Given the description of an element on the screen output the (x, y) to click on. 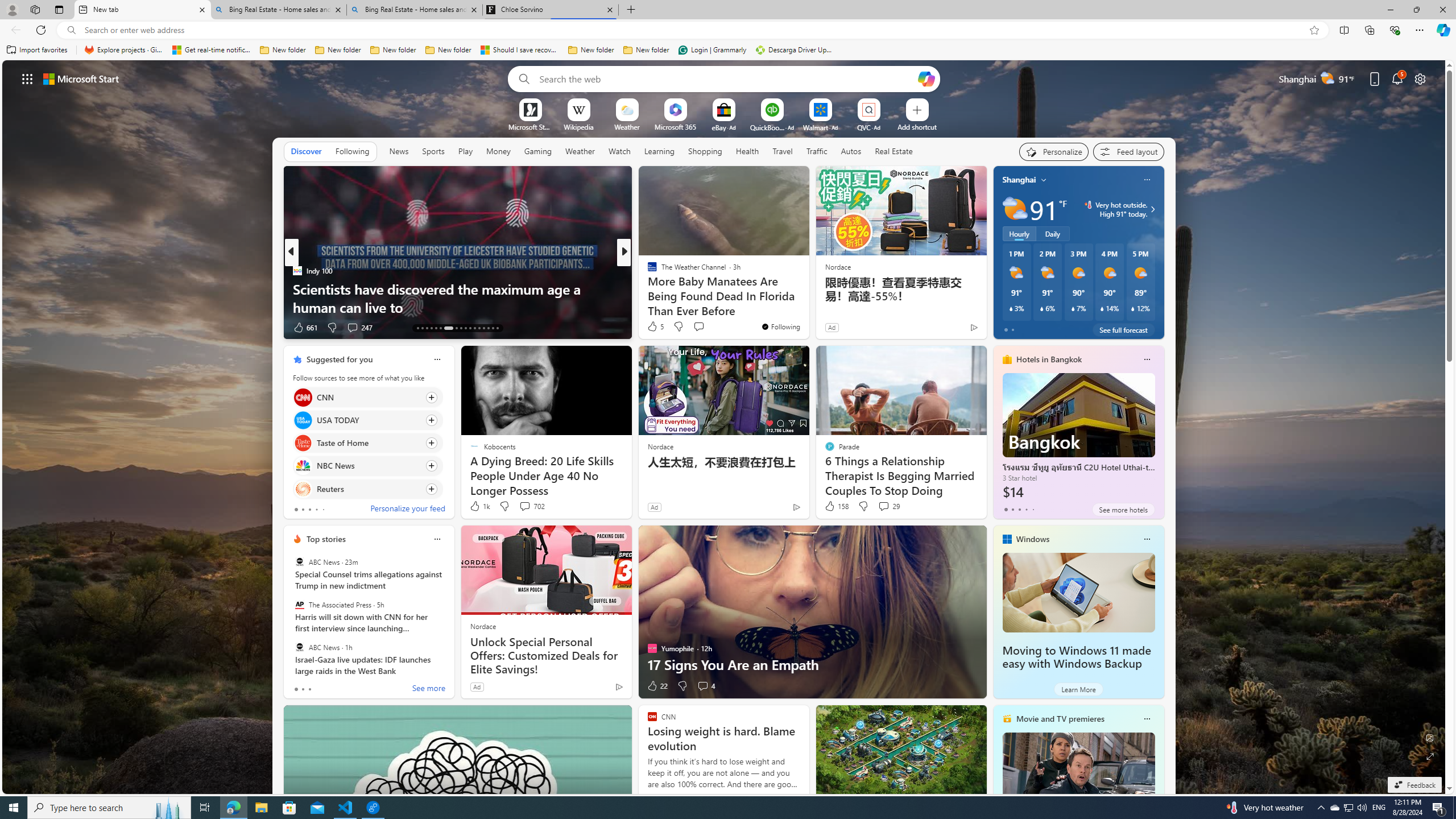
Partly sunny (1014, 208)
AutomationID: tab-18 (440, 328)
View comments 6 Comment (703, 327)
View comments 2 Comment (702, 327)
5 Like (655, 326)
Real Estate (893, 151)
tab-4 (1032, 509)
Shopping (705, 151)
